Given the description of an element on the screen output the (x, y) to click on. 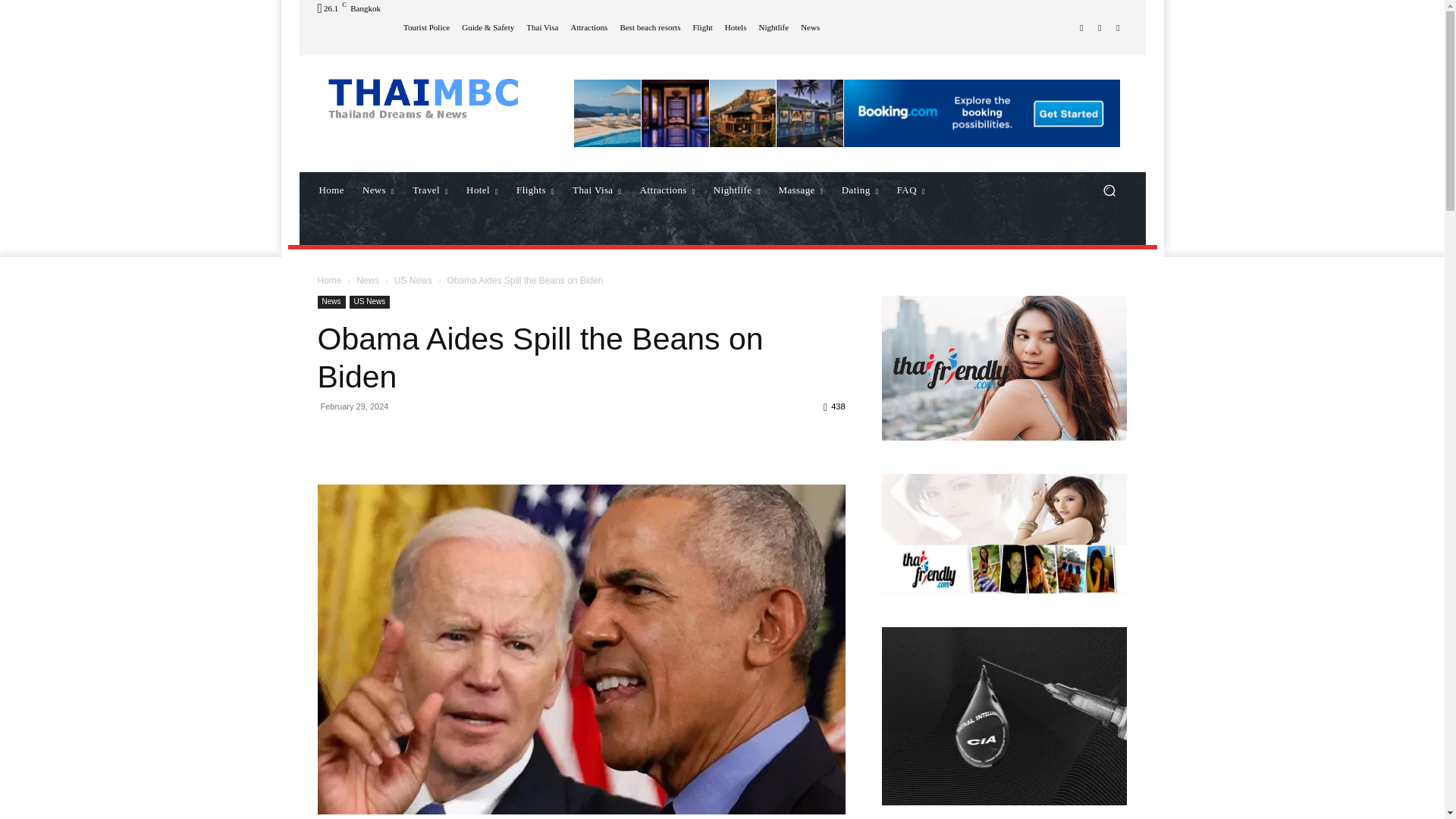
Twitter (1117, 27)
GETTR (1080, 27)
Tumblr (1099, 27)
